Given the description of an element on the screen output the (x, y) to click on. 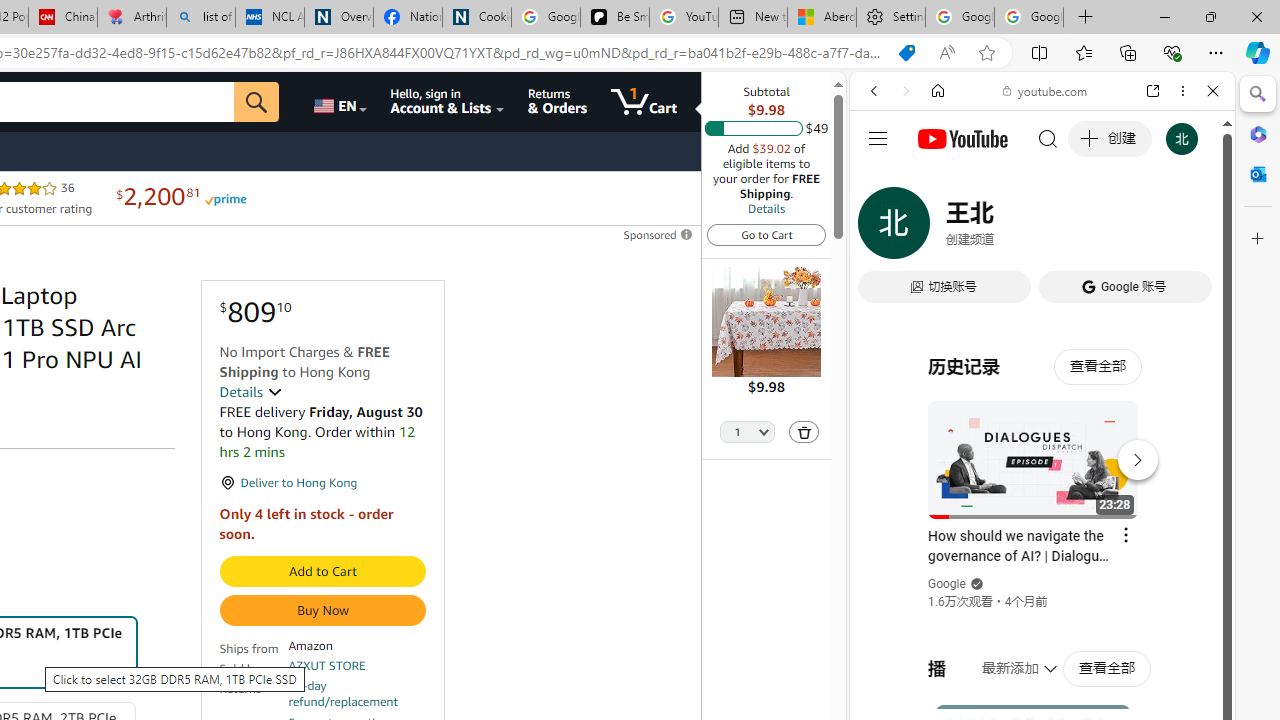
Delete (803, 431)
Cookies (476, 17)
YouTube (1034, 296)
Go to Cart (766, 234)
30-day refund/replacement (357, 693)
Search Filter, Search Tools (1093, 228)
Google (1042, 494)
